Given the description of an element on the screen output the (x, y) to click on. 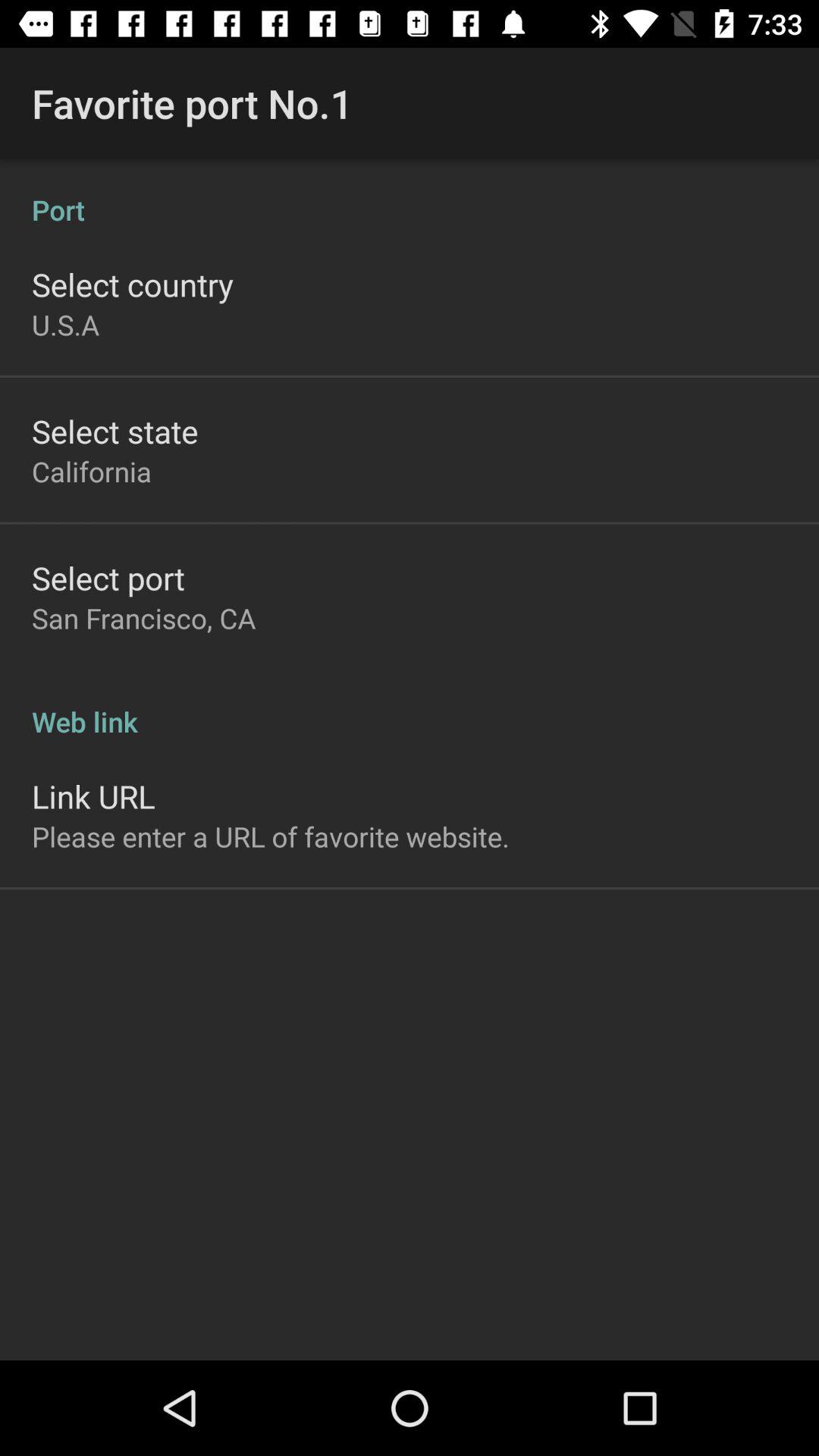
click app above please enter a item (93, 795)
